Given the description of an element on the screen output the (x, y) to click on. 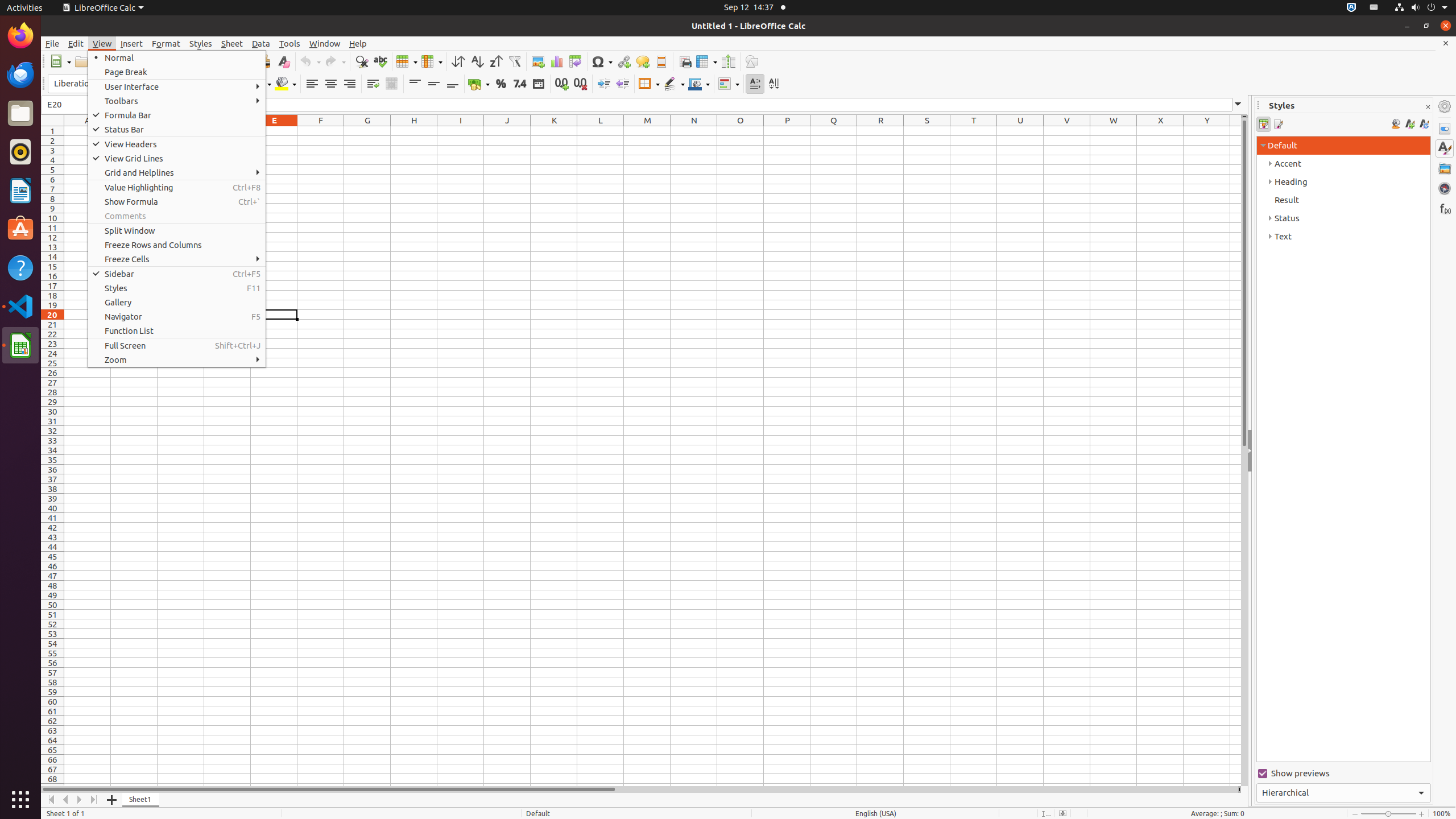
Styles Element type: menu (200, 43)
H1 Element type: table-cell (413, 130)
Align Top Element type: push-button (414, 83)
Navigator Element type: radio-button (1444, 188)
Find & Replace Element type: toggle-button (361, 61)
